Given the description of an element on the screen output the (x, y) to click on. 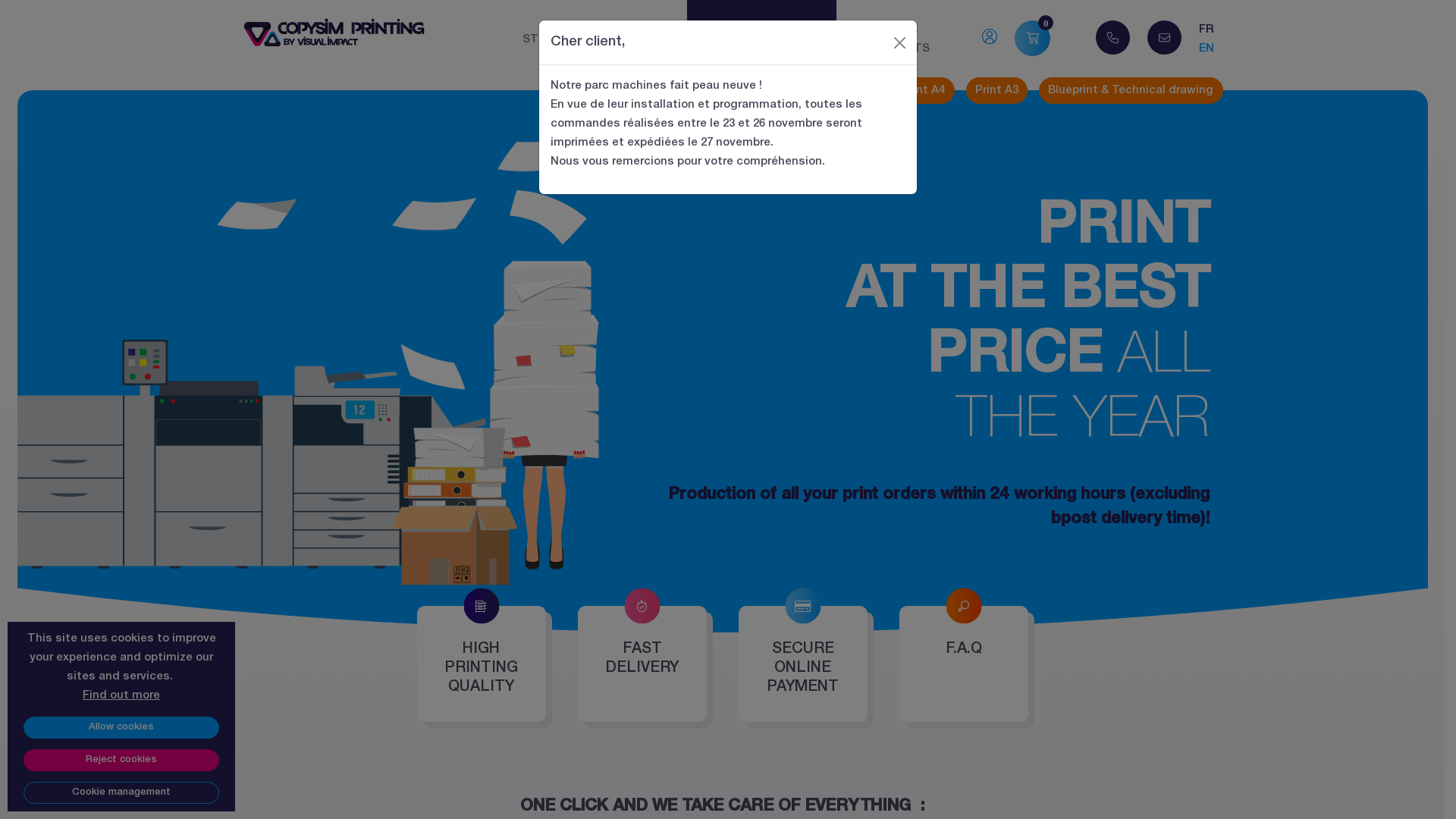
Blueprint & Technical drawing Element type: text (1130, 90)
F.A.Q Element type: text (963, 663)
BUSINESS & COMPANIES Element type: text (761, 39)
FAST DELIVERY Element type: text (641, 663)
Cookie management Element type: text (121, 792)
Reject cookies Element type: text (121, 760)
OTHER
PRODUCTS Element type: text (897, 39)
Print A4 Element type: text (923, 90)
FR Element type: text (1206, 29)
Print A3 Element type: text (997, 90)
EN Element type: text (1206, 48)
Find out more Element type: text (121, 695)
Allow cookies Element type: text (121, 727)
STUDENT & CONSUMER Element type: text (590, 39)
HIGH PRINTING QUALITY Element type: text (481, 663)
SECURE ONLINE PAYMENT Element type: text (802, 663)
